Given the description of an element on the screen output the (x, y) to click on. 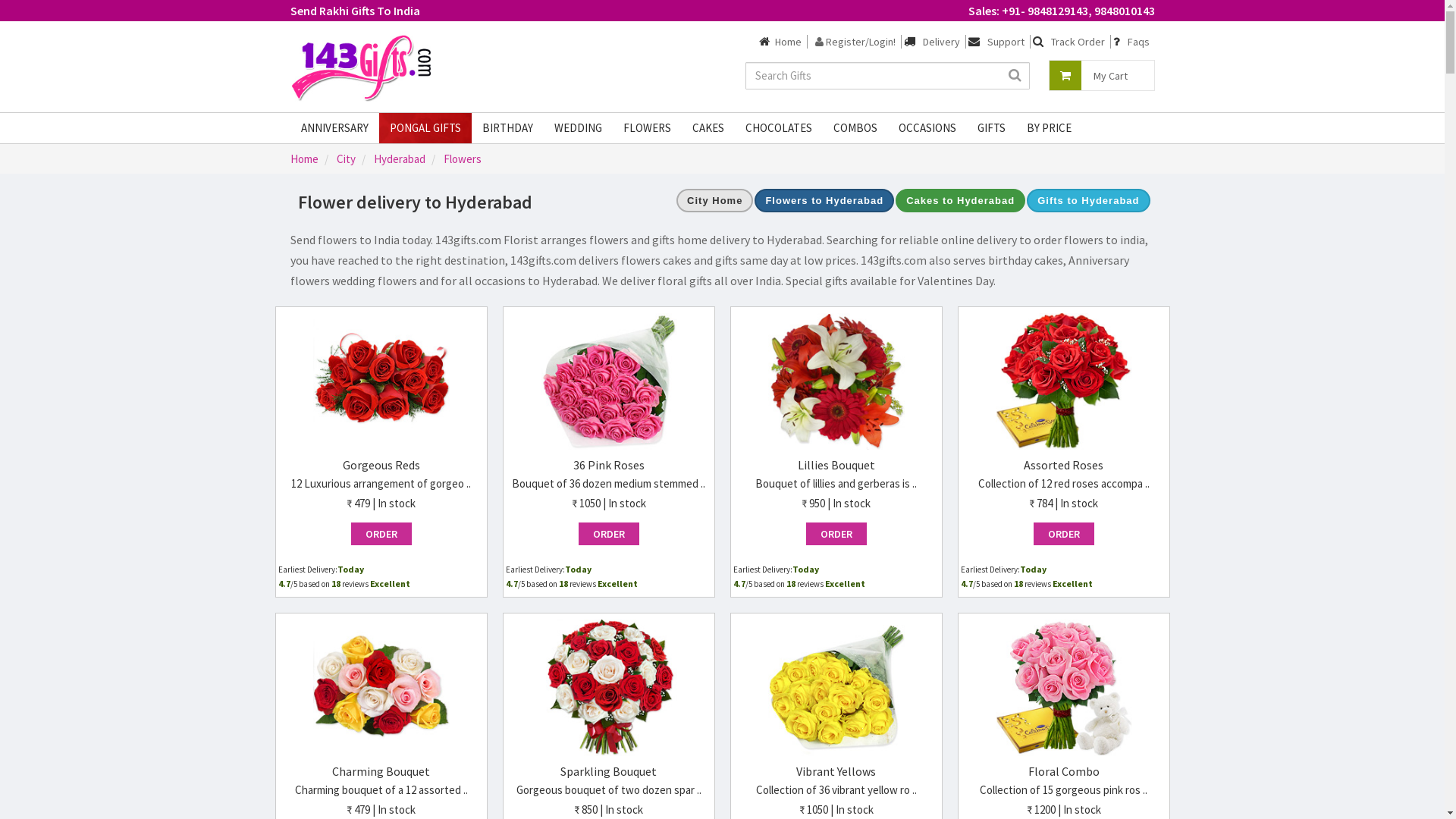
Gorgeous Reds Element type: text (381, 464)
36 Pink Roses Element type: text (608, 464)
Home Element type: text (303, 158)
Track Order Element type: text (1077, 41)
Delivery Element type: text (941, 41)
BIRTHDAY Element type: text (507, 127)
143gifts.com Element type: hover (365, 66)
WEDDING Element type: text (576, 127)
Cakes to Hyderabad Element type: text (960, 198)
Flowers to Hyderabad Element type: text (824, 200)
Send Rakhi Gifts To India Element type: text (354, 10)
ORDER Element type: text (835, 533)
Support Element type: text (1005, 41)
Home Element type: text (787, 41)
Sparkling Bouquet Element type: text (608, 770)
Assorted Roses Element type: text (1063, 464)
Gifts to Hyderabad Element type: text (1087, 198)
Floral Combo Element type: text (1063, 770)
ANNIVERSARY Element type: text (333, 127)
CHOCOLATES Element type: text (778, 127)
Gifts to Hyderabad Element type: text (1087, 200)
Register/Login! Element type: text (855, 41)
Charming Bouquet Element type: text (380, 770)
City Home Element type: text (714, 198)
OCCASIONS Element type: text (926, 127)
ORDER Element type: text (607, 533)
COMBOS Element type: text (854, 127)
PONGAL GIFTS Element type: text (425, 127)
City Home Element type: text (714, 200)
GIFTS Element type: text (990, 127)
Lillies Bouquet Element type: text (836, 464)
Faqs Element type: text (1138, 41)
City Element type: text (345, 158)
ORDER Element type: text (380, 533)
Cakes to Hyderabad Element type: text (960, 200)
Flowers to Hyderabad Element type: text (824, 198)
BY PRICE Element type: text (1049, 127)
Flowers Element type: text (461, 158)
Vibrant Yellows Element type: text (835, 770)
ORDER Element type: text (1062, 533)
Hyderabad Element type: text (398, 158)
CAKES Element type: text (707, 127)
FLOWERS Element type: text (646, 127)
